Given the description of an element on the screen output the (x, y) to click on. 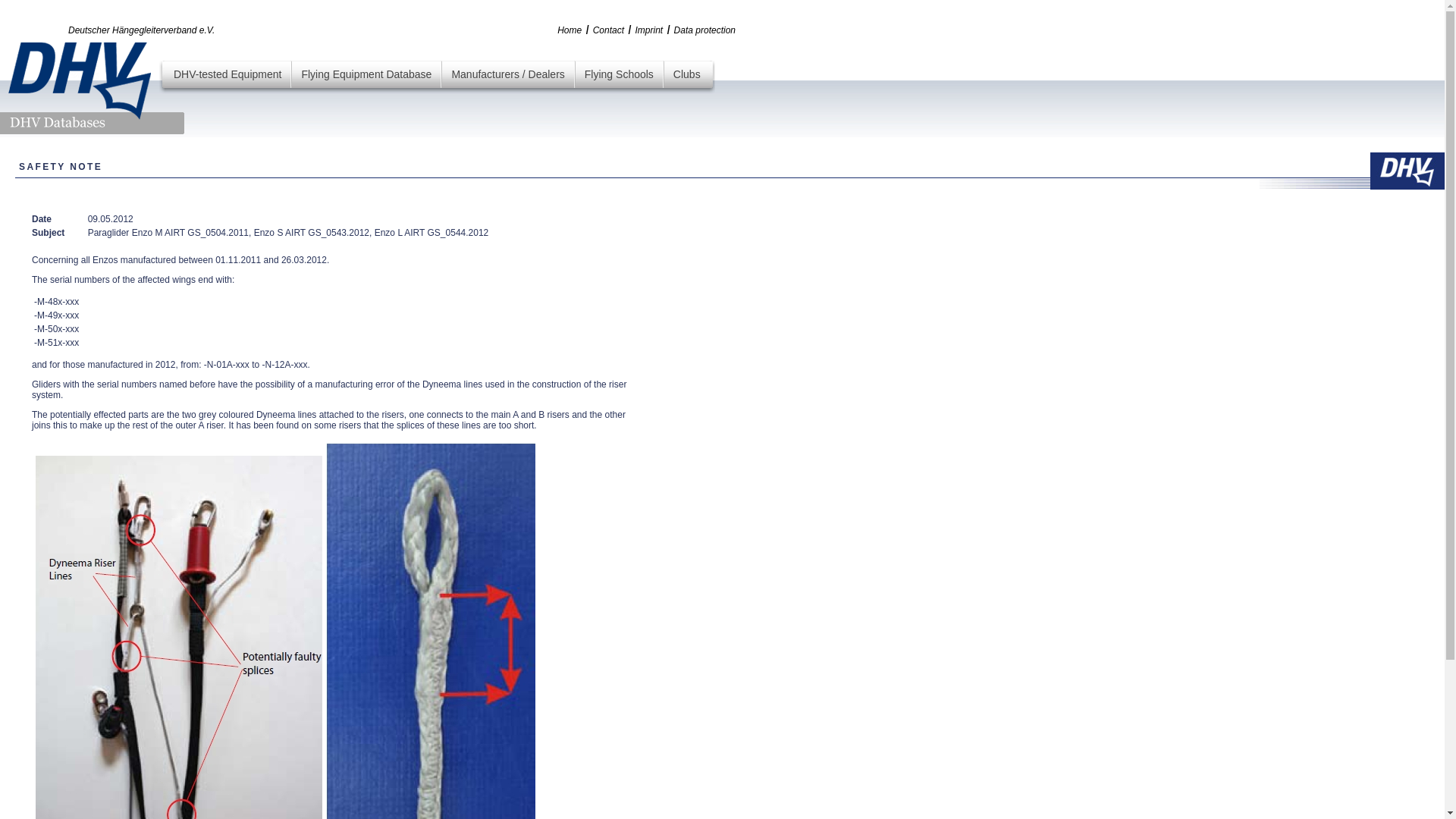
Clubs (686, 73)
DHV-tested Equipment (227, 73)
DHV-tested Equipment (227, 73)
DHV Home (568, 30)
Home (568, 30)
Flying Schools (619, 73)
Data protection (704, 30)
Data protection (704, 30)
Imprint (648, 30)
Flying Equipment Database (365, 73)
Contact (608, 30)
Flying Schools (619, 73)
Flying Equipment Database (365, 73)
Contact (608, 30)
Clubs (686, 73)
